Given the description of an element on the screen output the (x, y) to click on. 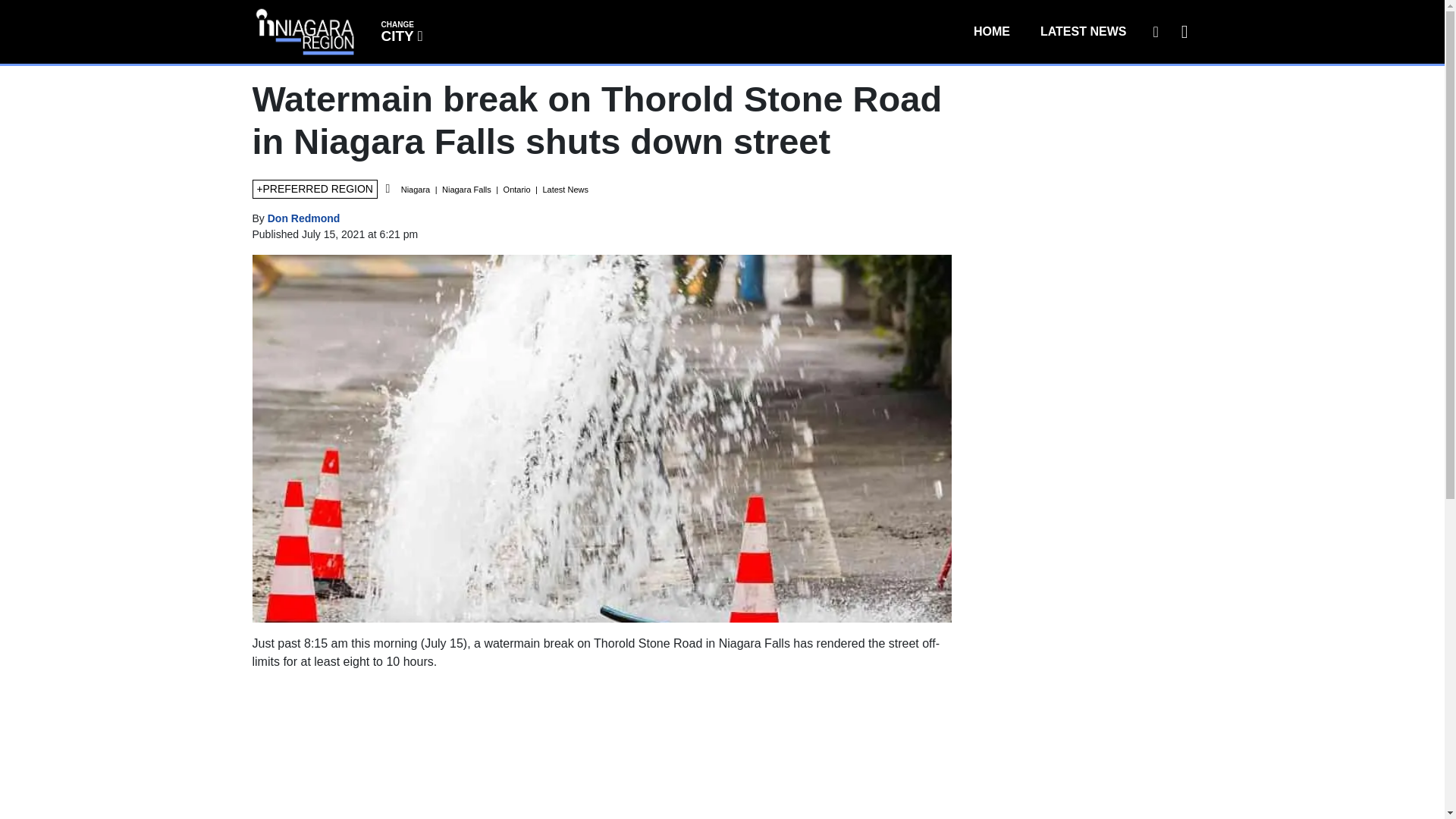
HOME (991, 31)
LATEST NEWS (1083, 31)
Posts by 948 (400, 30)
SIGN UP FOR OUR NEWSLETTER (303, 218)
